Given the description of an element on the screen output the (x, y) to click on. 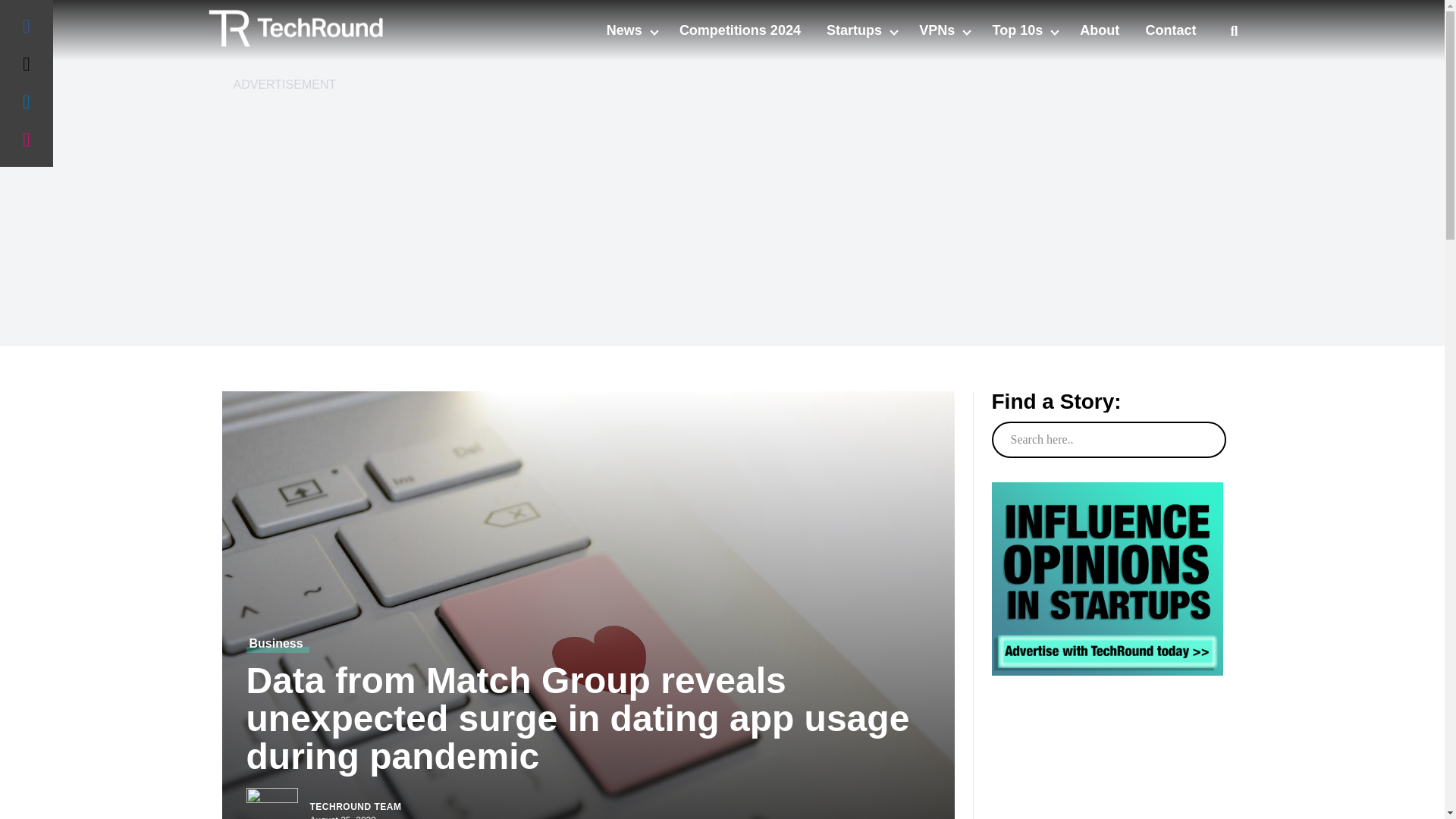
Advertisement (1107, 777)
